Given the description of an element on the screen output the (x, y) to click on. 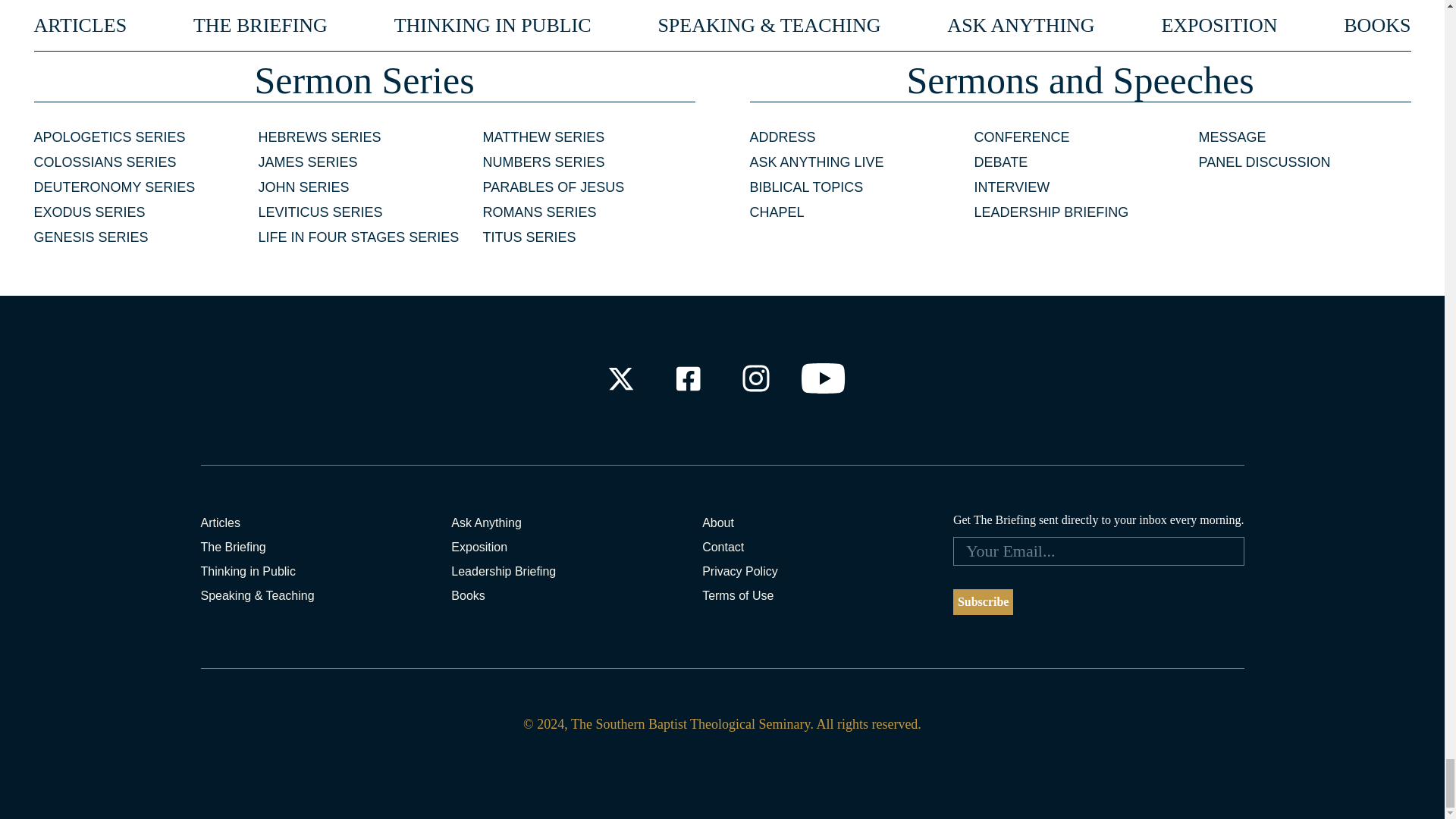
Check out our Instagram Profile (755, 378)
Check out our Facebook Profile (687, 378)
Check out our Youtube Channel (822, 378)
Check out our X Profile (620, 378)
Subscribe (983, 601)
